Given the description of an element on the screen output the (x, y) to click on. 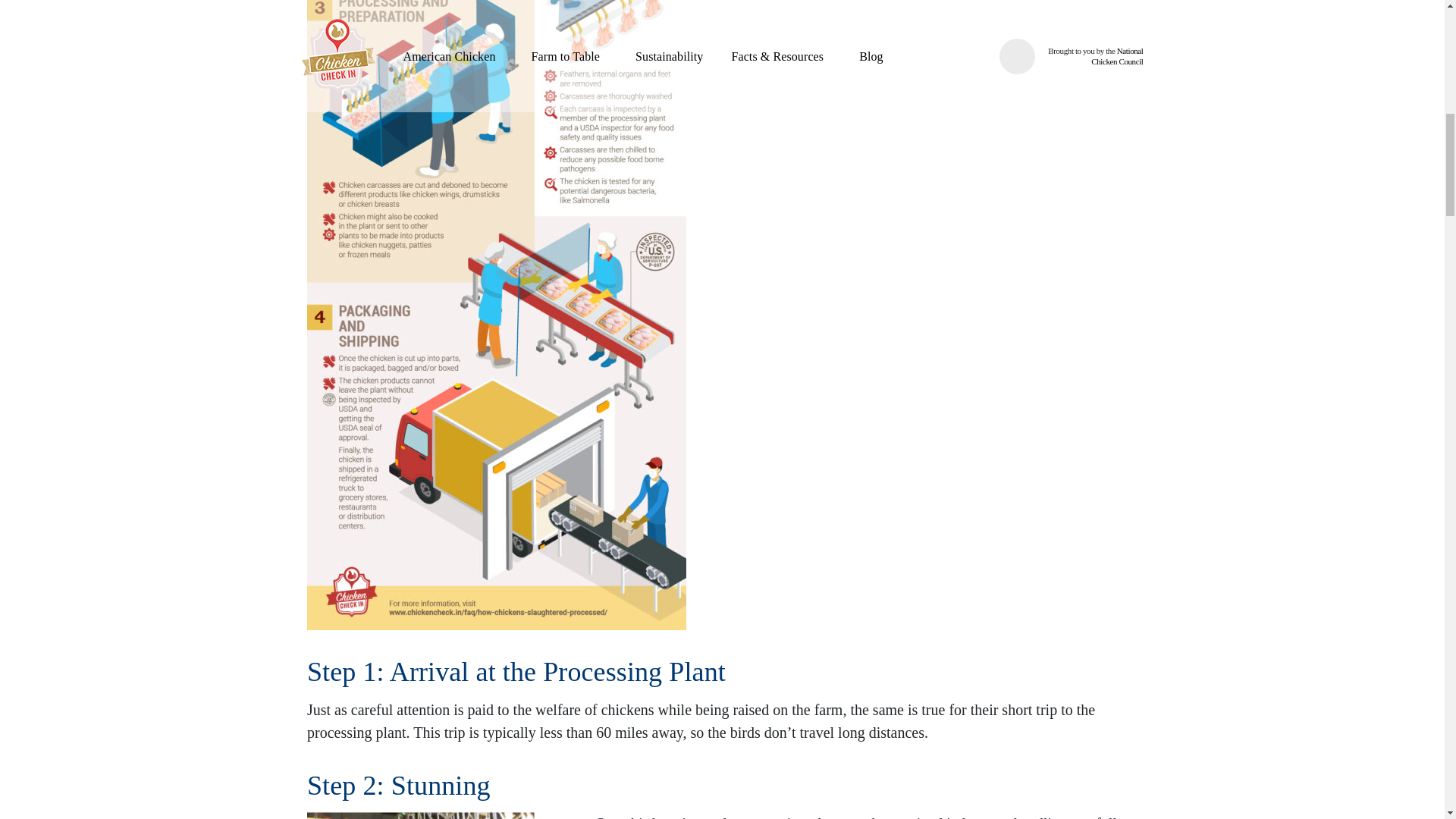
stunning chickens (420, 815)
